Given the description of an element on the screen output the (x, y) to click on. 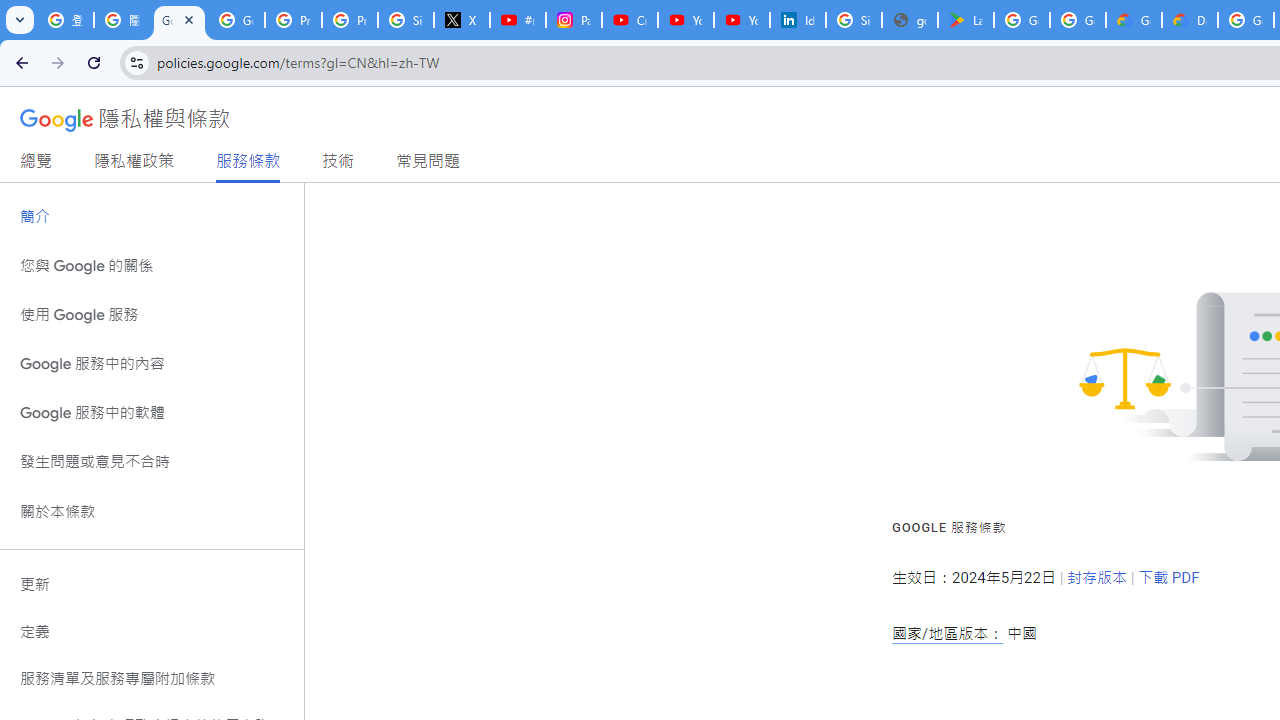
YouTube Culture & Trends - YouTube Top 10, 2021 (742, 20)
google_privacy_policy_en.pdf (909, 20)
